Given the description of an element on the screen output the (x, y) to click on. 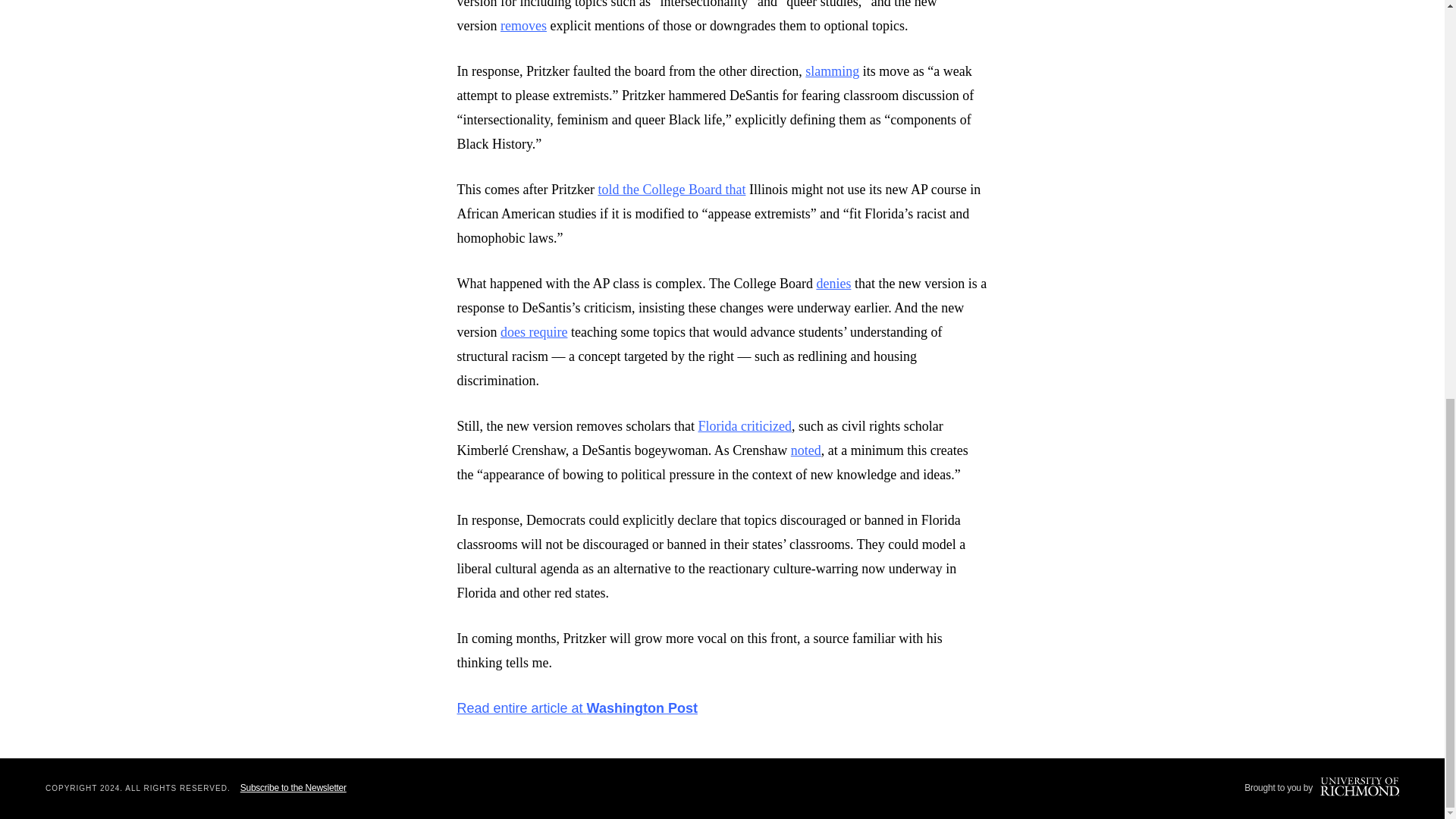
Subscribe to the Newsletter (293, 787)
slamming (832, 70)
Read entire article at Washington Post (577, 708)
told the College Board that (670, 189)
denies (832, 283)
does require (533, 331)
Florida criticized (743, 426)
noted (805, 450)
removes (523, 25)
